Given the description of an element on the screen output the (x, y) to click on. 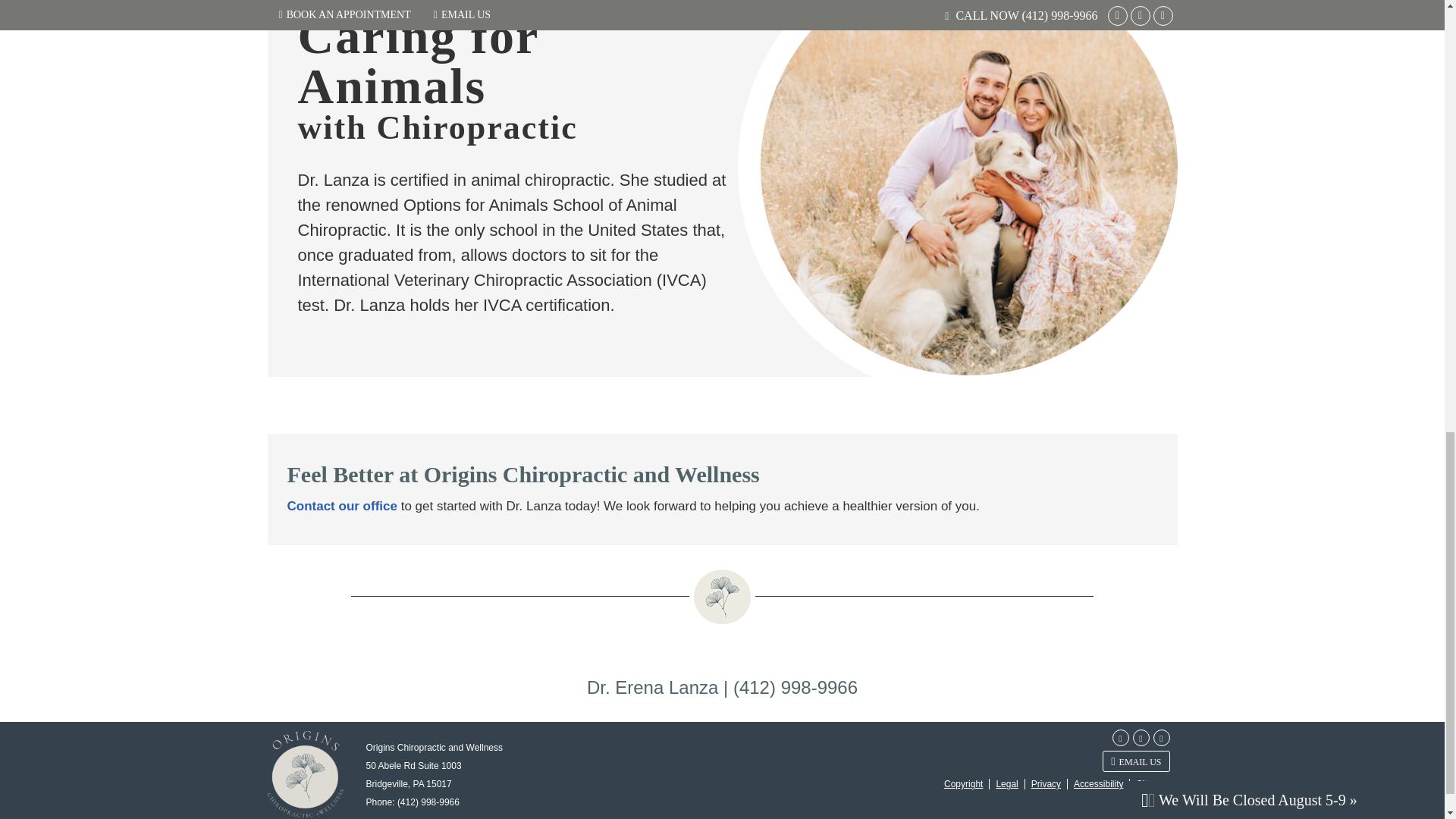
Contact (1135, 761)
Contact our office (341, 504)
Footer Links (1053, 784)
